Given the description of an element on the screen output the (x, y) to click on. 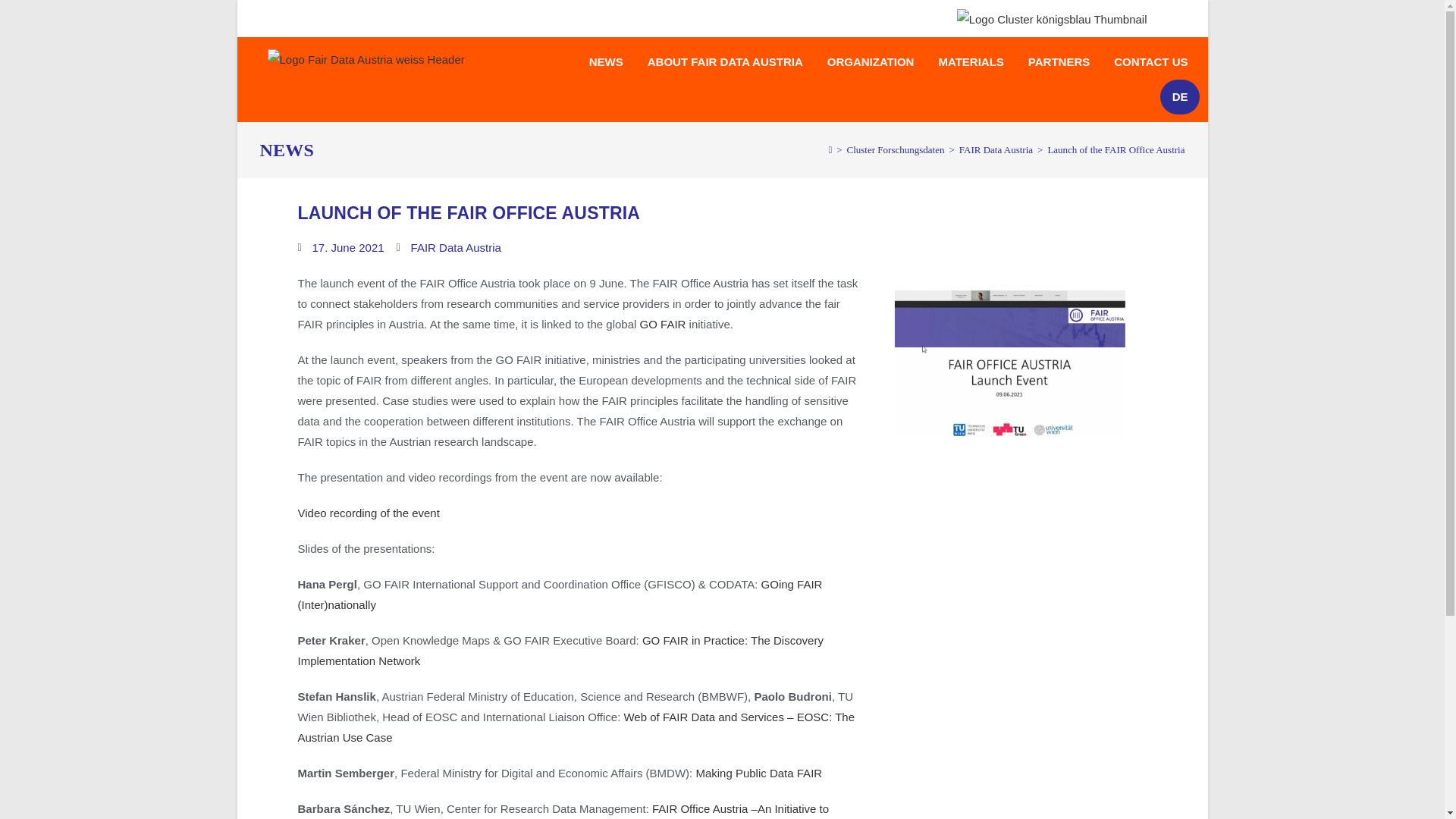
FAIR Data Austria (455, 246)
Making Public Data FAIR (758, 772)
Launch of the FAIR Office Austria (1115, 149)
FAIR Data Austria (995, 149)
Logo Fair Data Austria weiss Header (365, 59)
Video recording of the event (368, 512)
DE (1179, 96)
PARTNERS (1059, 62)
MATERIALS (970, 62)
NEWS (605, 62)
